Given the description of an element on the screen output the (x, y) to click on. 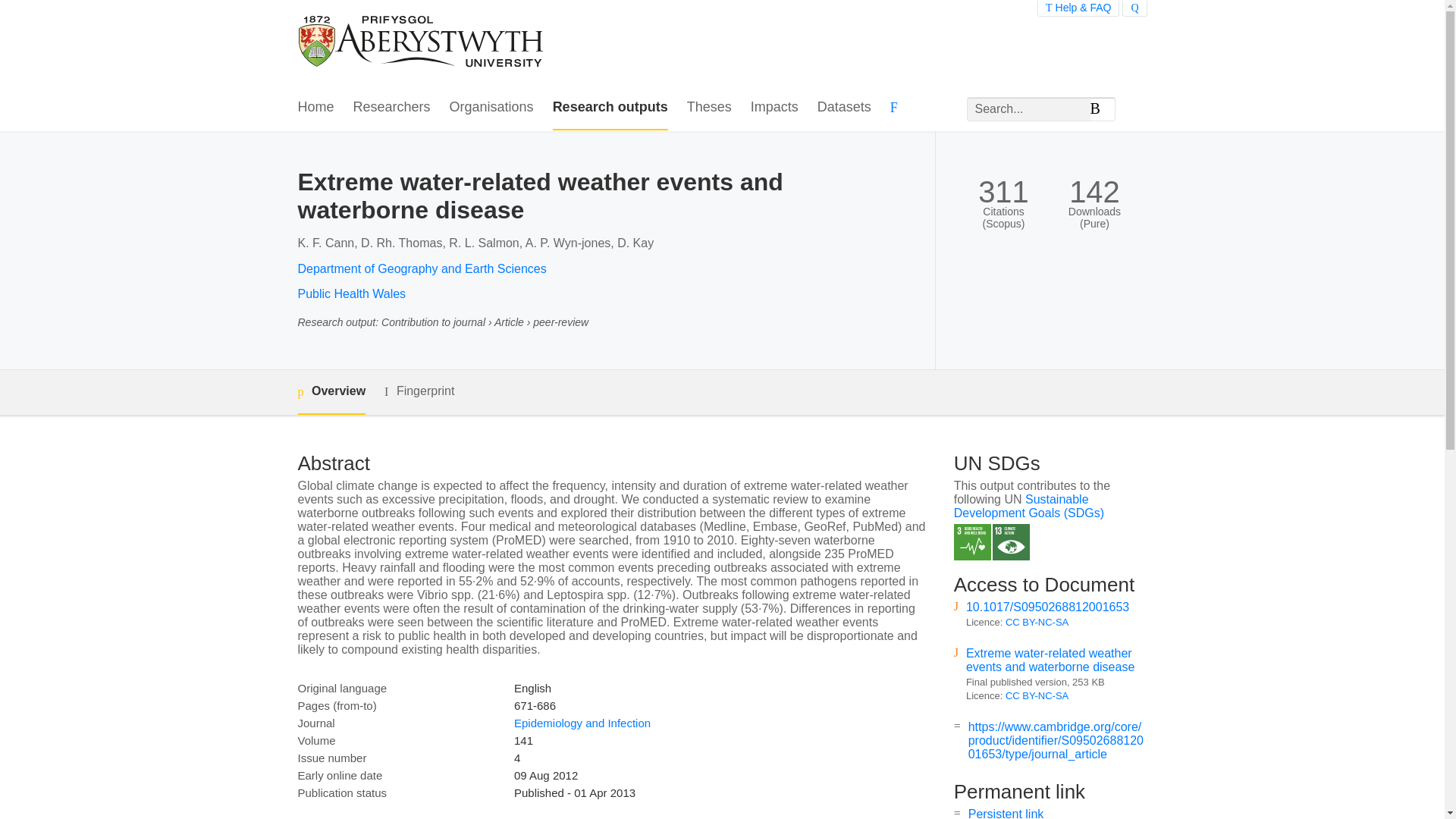
Department of Geography and Earth Sciences (421, 268)
Impacts (774, 107)
Aberystwyth Research Portal Home (422, 42)
Researchers (391, 107)
SDG 3 - Good Health and Well-being (972, 542)
Extreme water-related weather events and waterborne disease (1050, 660)
Theses (709, 107)
Research outputs (610, 107)
Fingerprint (419, 391)
Overview (331, 392)
Public Health Wales (351, 293)
Persistent link (1005, 813)
Home (315, 107)
Epidemiology and Infection (581, 722)
